Given the description of an element on the screen output the (x, y) to click on. 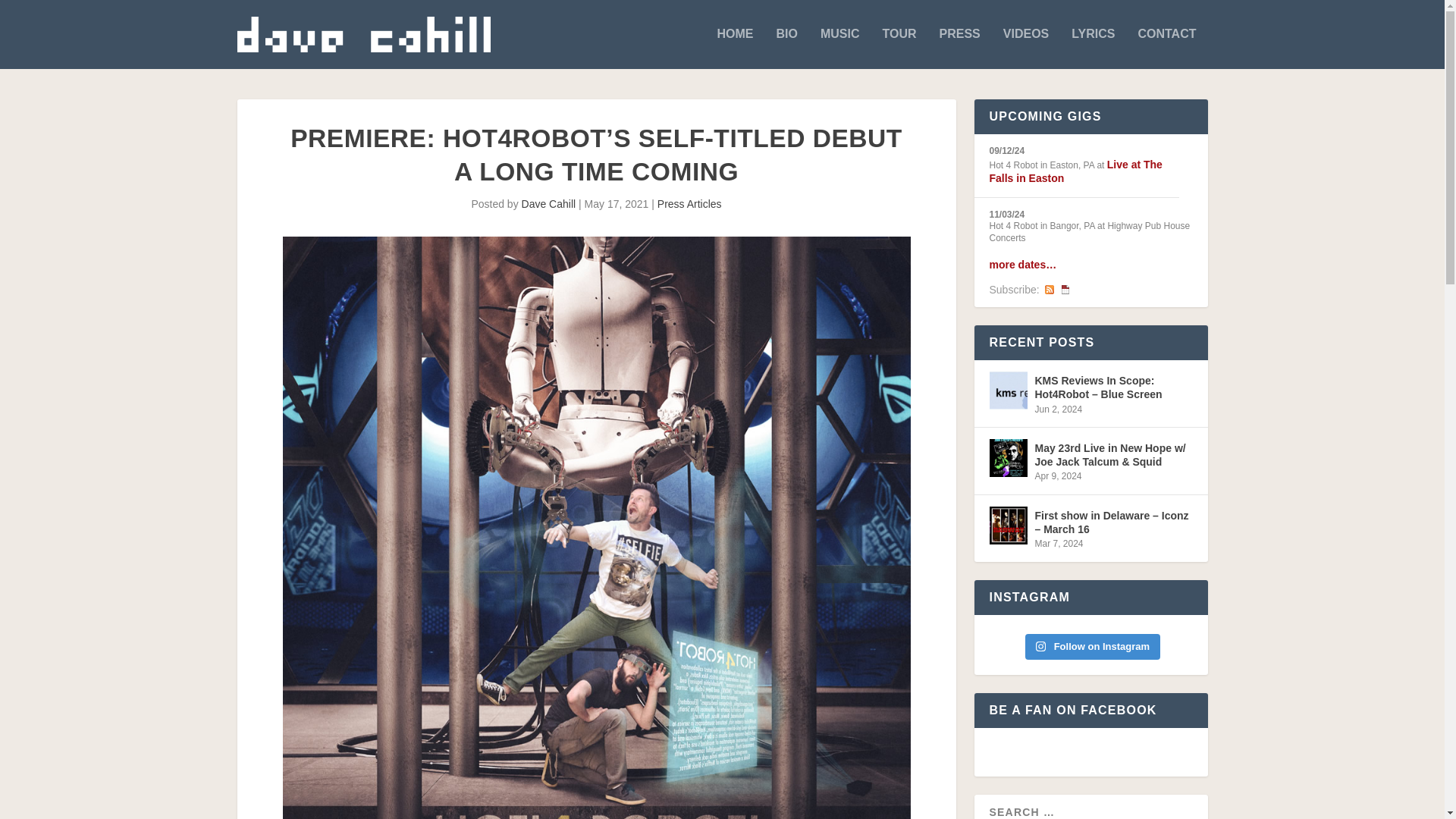
Posts by Dave Cahill (548, 203)
PRESS (959, 47)
VIDEOS (1025, 47)
CONTACT (1166, 47)
MUSIC (840, 47)
Dave Cahill (548, 203)
Press Articles (690, 203)
HOME (734, 47)
LYRICS (1093, 47)
